Given the description of an element on the screen output the (x, y) to click on. 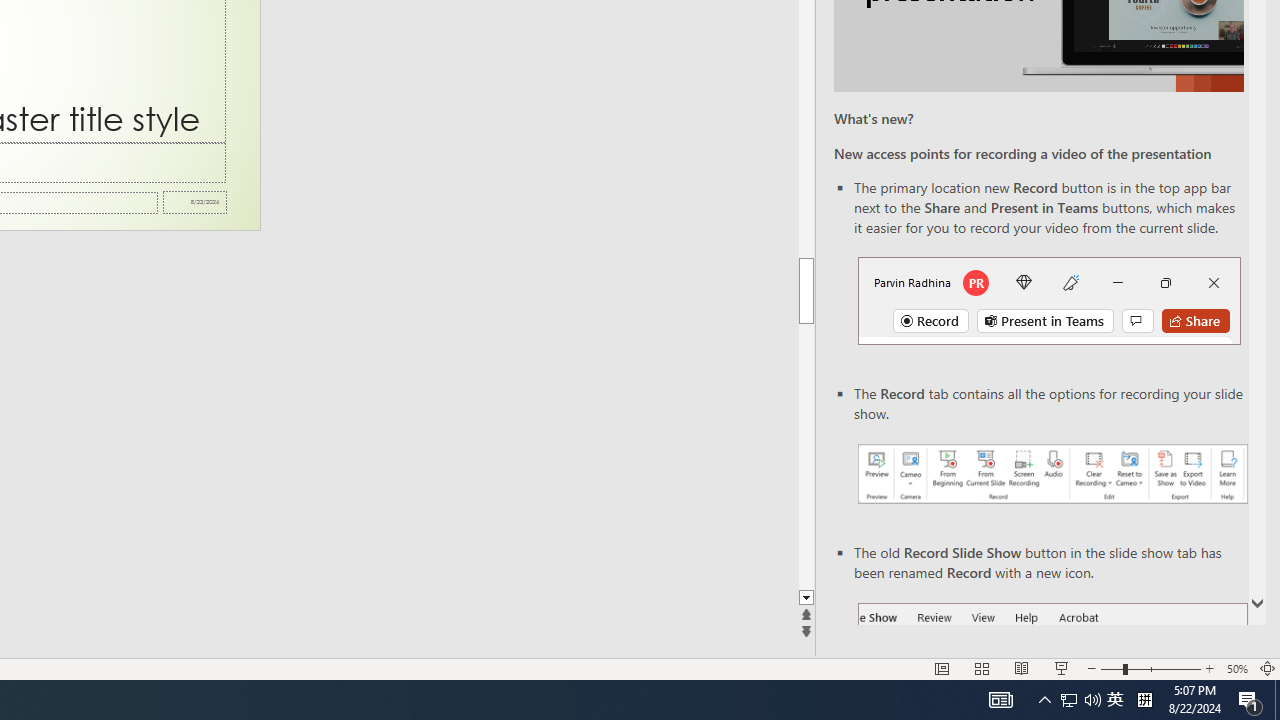
Date (194, 201)
Record your presentations screenshot one (1052, 473)
Record button in top bar (1049, 300)
